Given the description of an element on the screen output the (x, y) to click on. 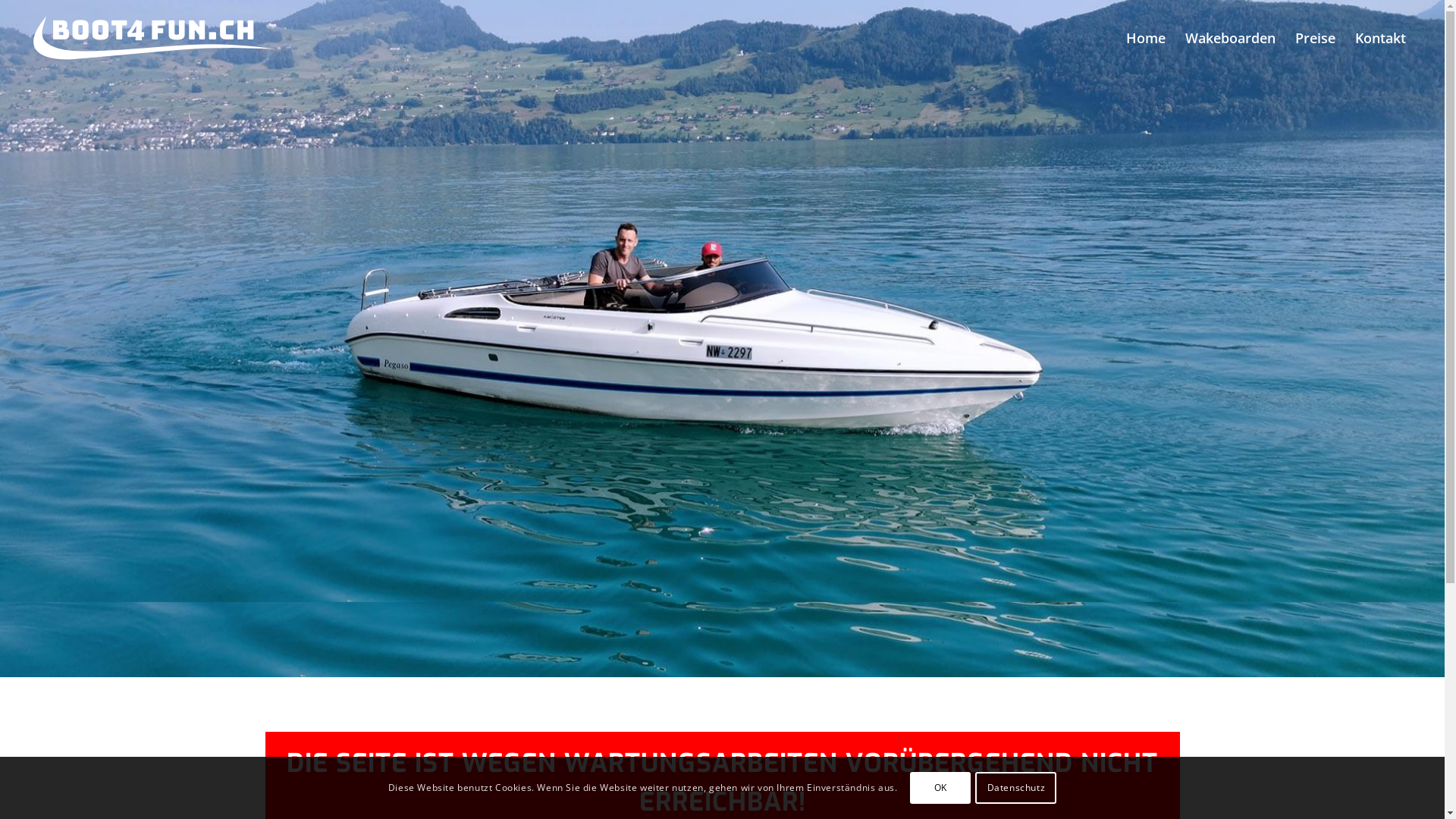
OK Element type: text (940, 787)
Datenschutz Element type: text (1015, 787)
Wakeboarden Element type: text (1230, 37)
Home Element type: text (1145, 37)
Kontakt Element type: text (1380, 37)
Preise Element type: text (1315, 37)
